Given the description of an element on the screen output the (x, y) to click on. 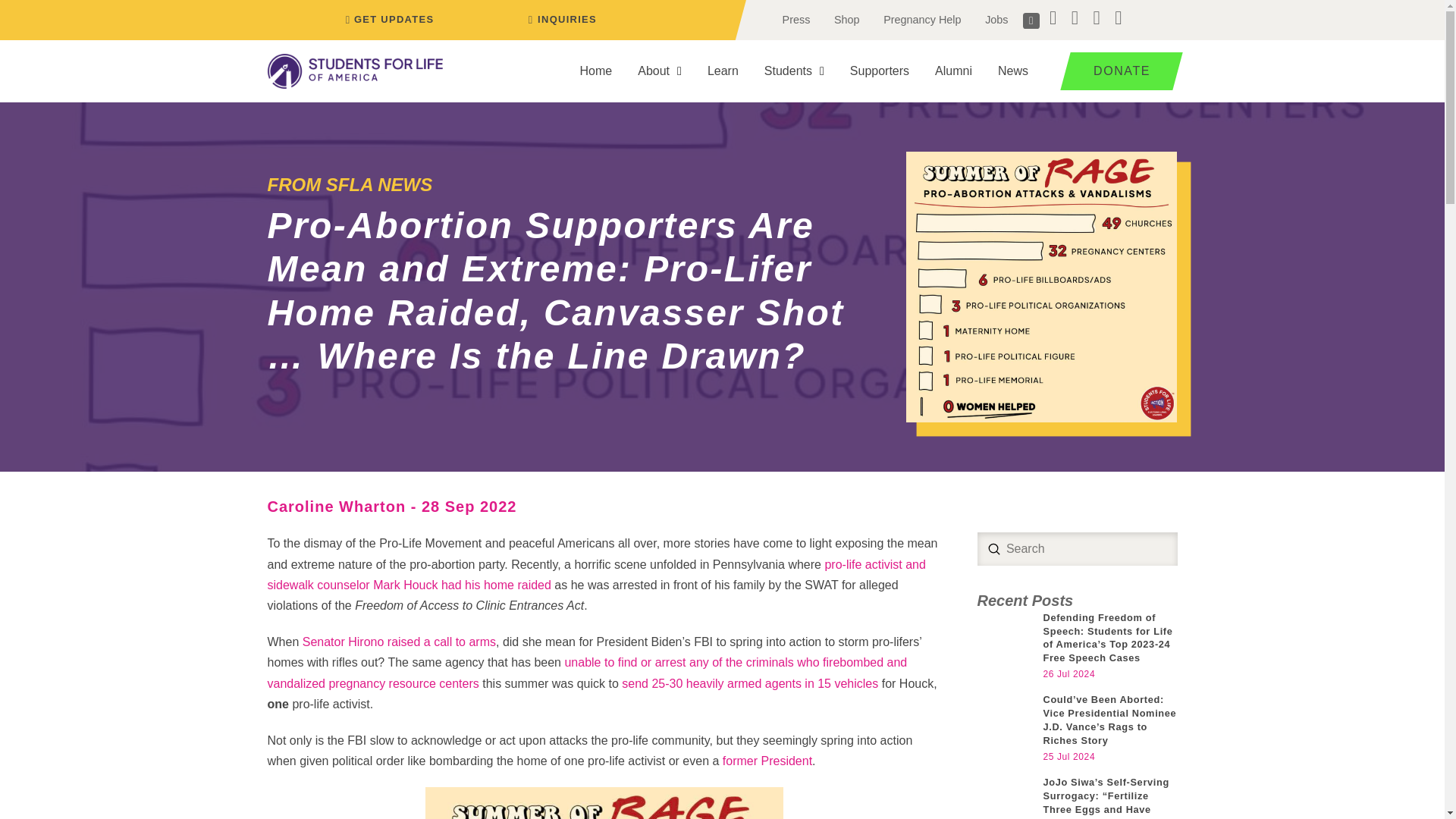
Alumni (953, 71)
GET UPDATES (386, 20)
former President (767, 760)
Press (796, 20)
Pregnancy Help (921, 20)
Home (596, 71)
Students (794, 71)
About (659, 71)
send 25-30 heavily armed agents in 15 vehicles (749, 683)
DONATE (1115, 71)
Learn (722, 71)
Jobs (996, 20)
Senator Hirono raised a call to arms (399, 641)
Supporters (879, 71)
